Given the description of an element on the screen output the (x, y) to click on. 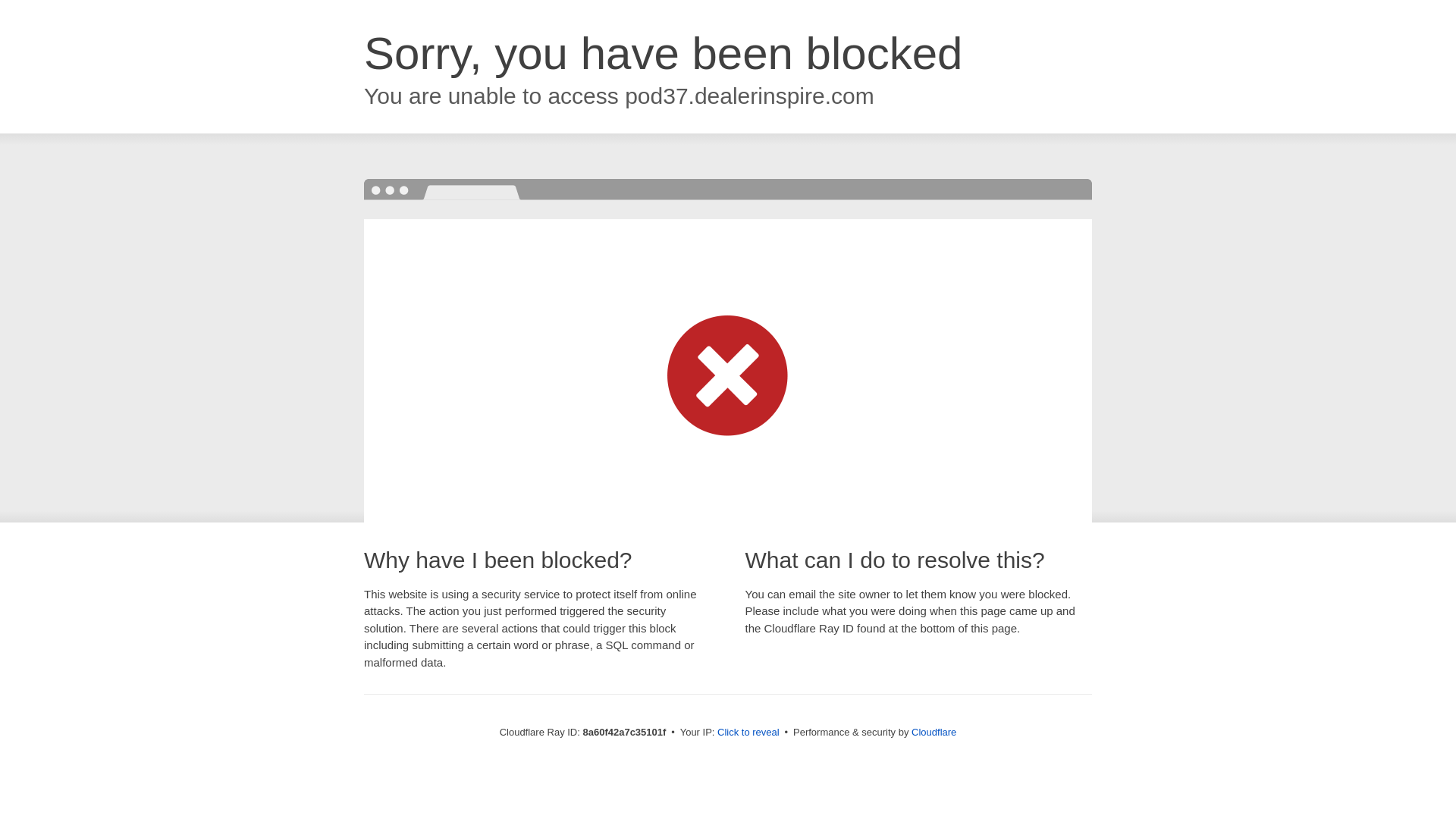
Cloudflare (933, 731)
Click to reveal (747, 732)
